Given the description of an element on the screen output the (x, y) to click on. 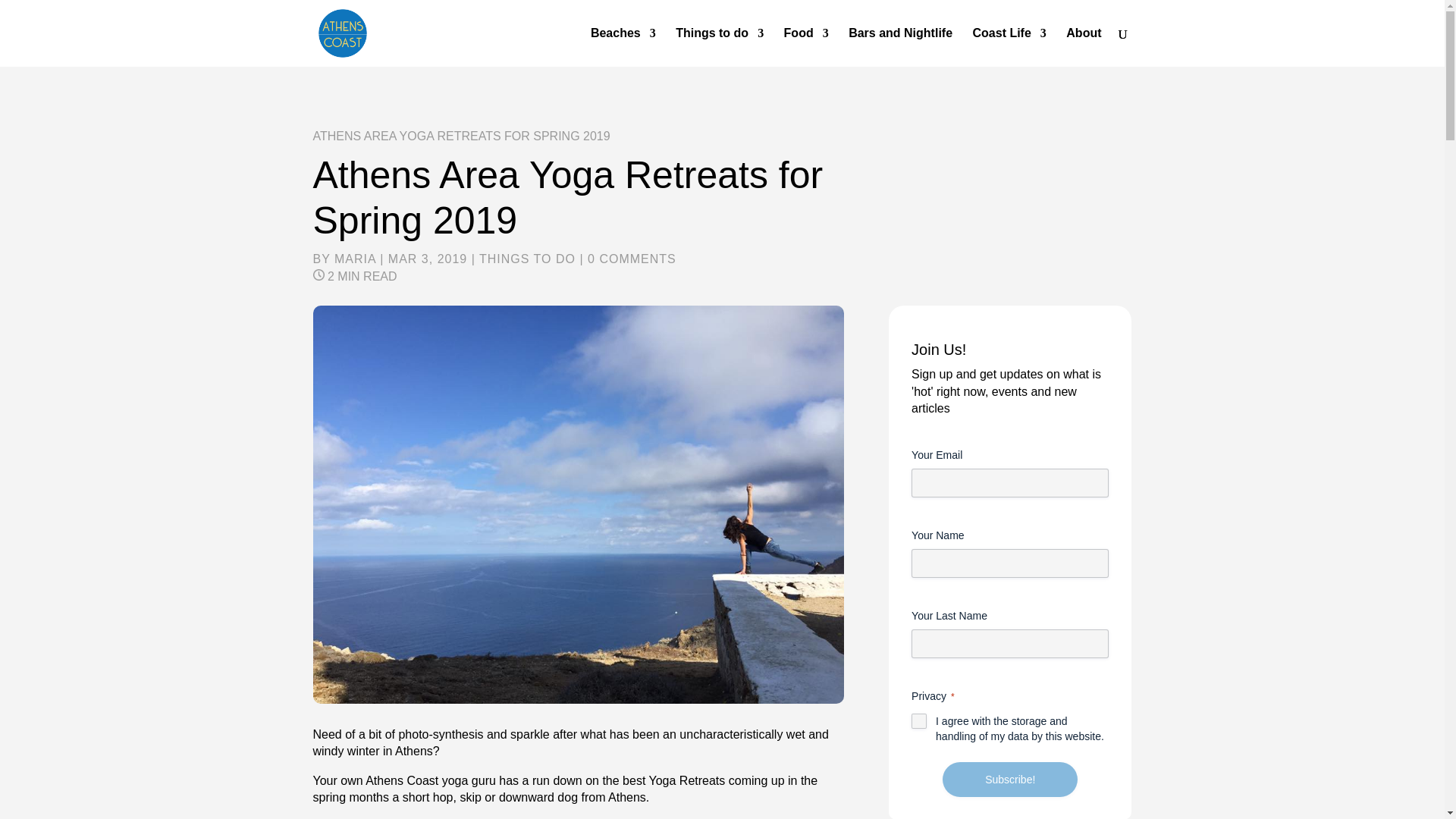
Bars and Nightlife (900, 46)
Beaches (623, 46)
Food (806, 46)
Things to do (718, 46)
Posts by Maria (354, 258)
Coast Life (1008, 46)
About (1082, 46)
Subscribe! (1009, 779)
MARIA (354, 258)
